Given the description of an element on the screen output the (x, y) to click on. 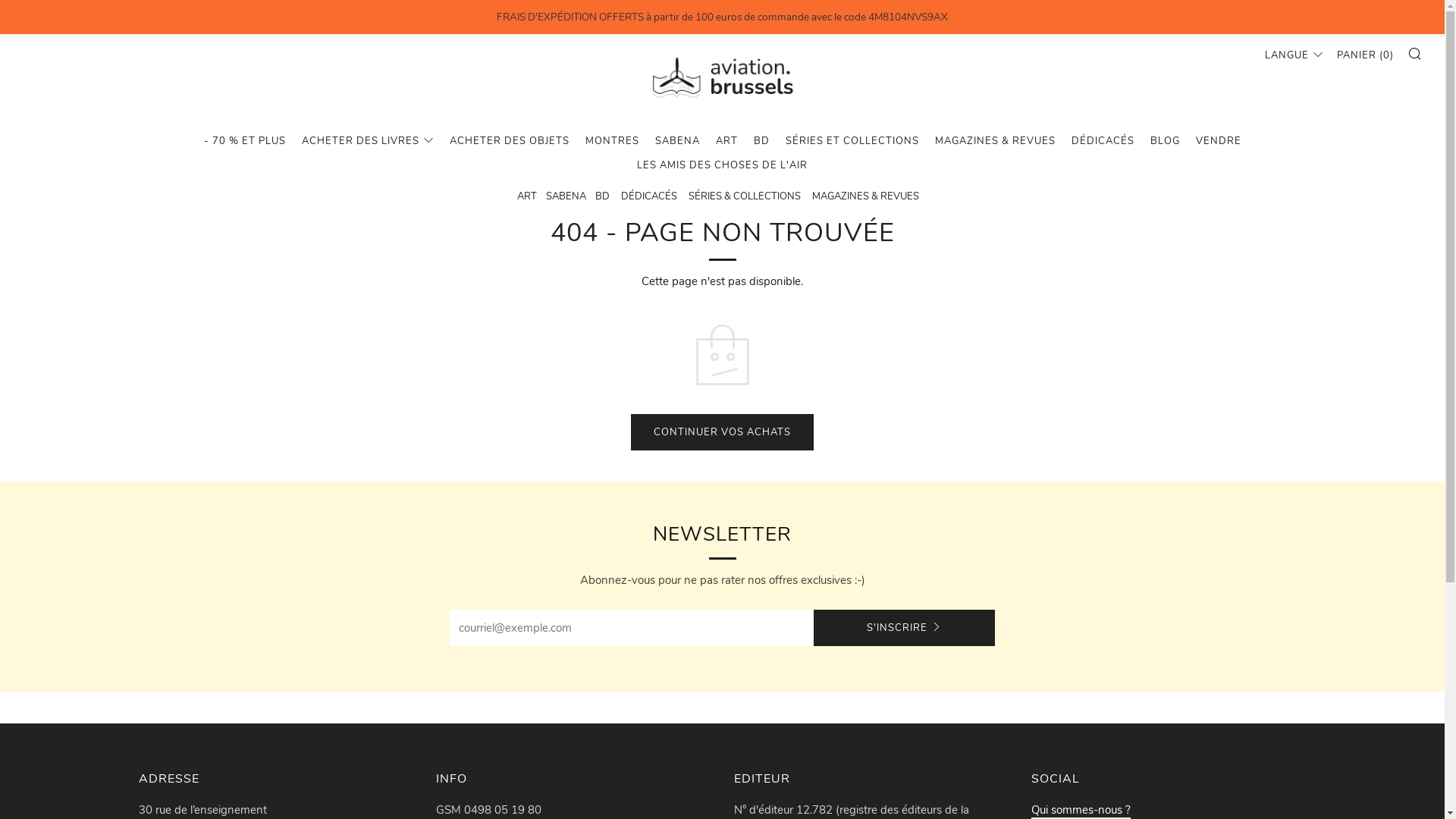
CONTINUER VOS ACHATS Element type: text (721, 432)
BD Element type: text (601, 196)
- 70 % ET PLUS Element type: text (244, 140)
BD Element type: text (761, 140)
ART Element type: text (726, 140)
RECHERCHE Element type: text (1414, 52)
LES AMIS DES CHOSES DE L'AIR Element type: text (722, 165)
VENDRE Element type: text (1217, 140)
S'INSCRIRE Element type: text (903, 627)
SABENA    Element type: text (569, 196)
BLOG Element type: text (1164, 140)
MONTRES Element type: text (612, 140)
ACHETER DES OBJETS Element type: text (508, 140)
PANIER (0) Element type: text (1364, 55)
ACHETER DES LIVRES Element type: text (367, 140)
LANGUE Element type: text (1293, 55)
MAGAZINES & REVUES Element type: text (864, 196)
ART    Element type: text (530, 196)
SABENA Element type: text (677, 140)
MAGAZINES & REVUES Element type: text (994, 140)
